Given the description of an element on the screen output the (x, y) to click on. 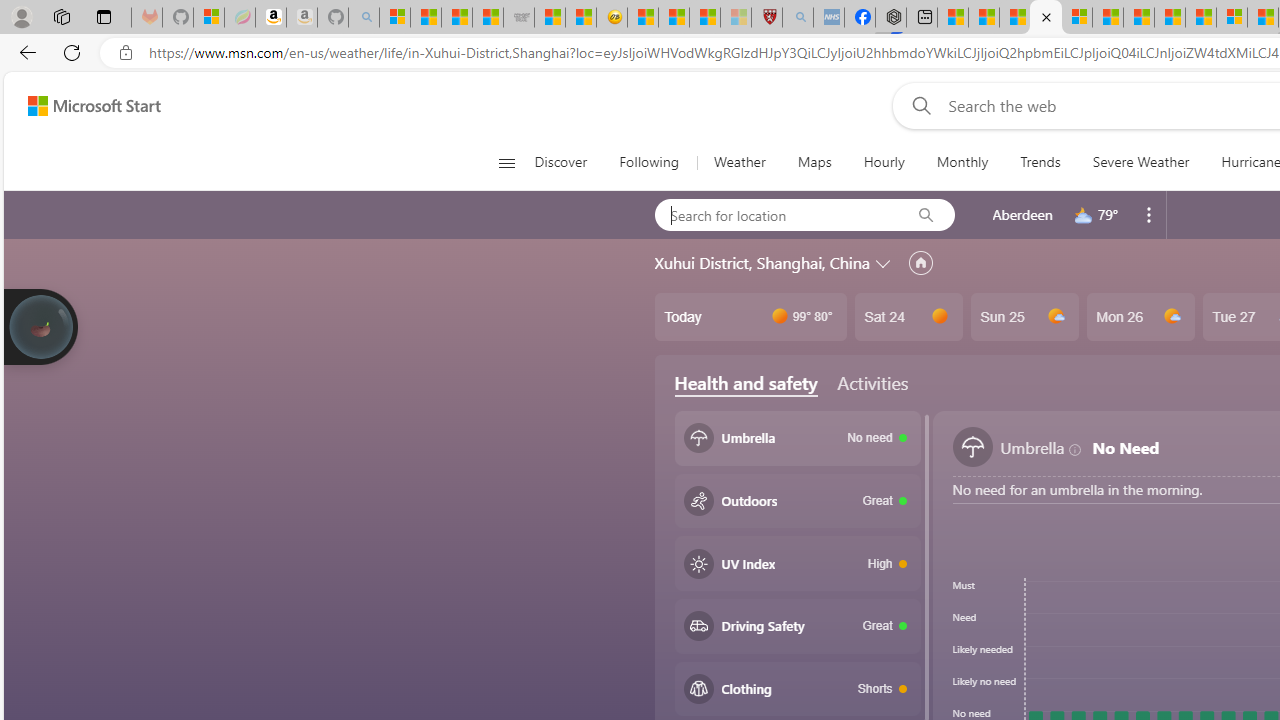
Web search (917, 105)
Sat 24 (907, 317)
14 Common Myths Debunked By Scientific Facts (1169, 17)
Search for location (776, 214)
Hourly (883, 162)
Discover (560, 162)
Sat 24 (907, 317)
Discover (568, 162)
Maps (813, 162)
Nordace - Nordace Siena Is Not An Ordinary Backpack (890, 17)
Microsoft Start (1107, 17)
View site information (125, 53)
MSNBC - MSN (456, 17)
